Given the description of an element on the screen output the (x, y) to click on. 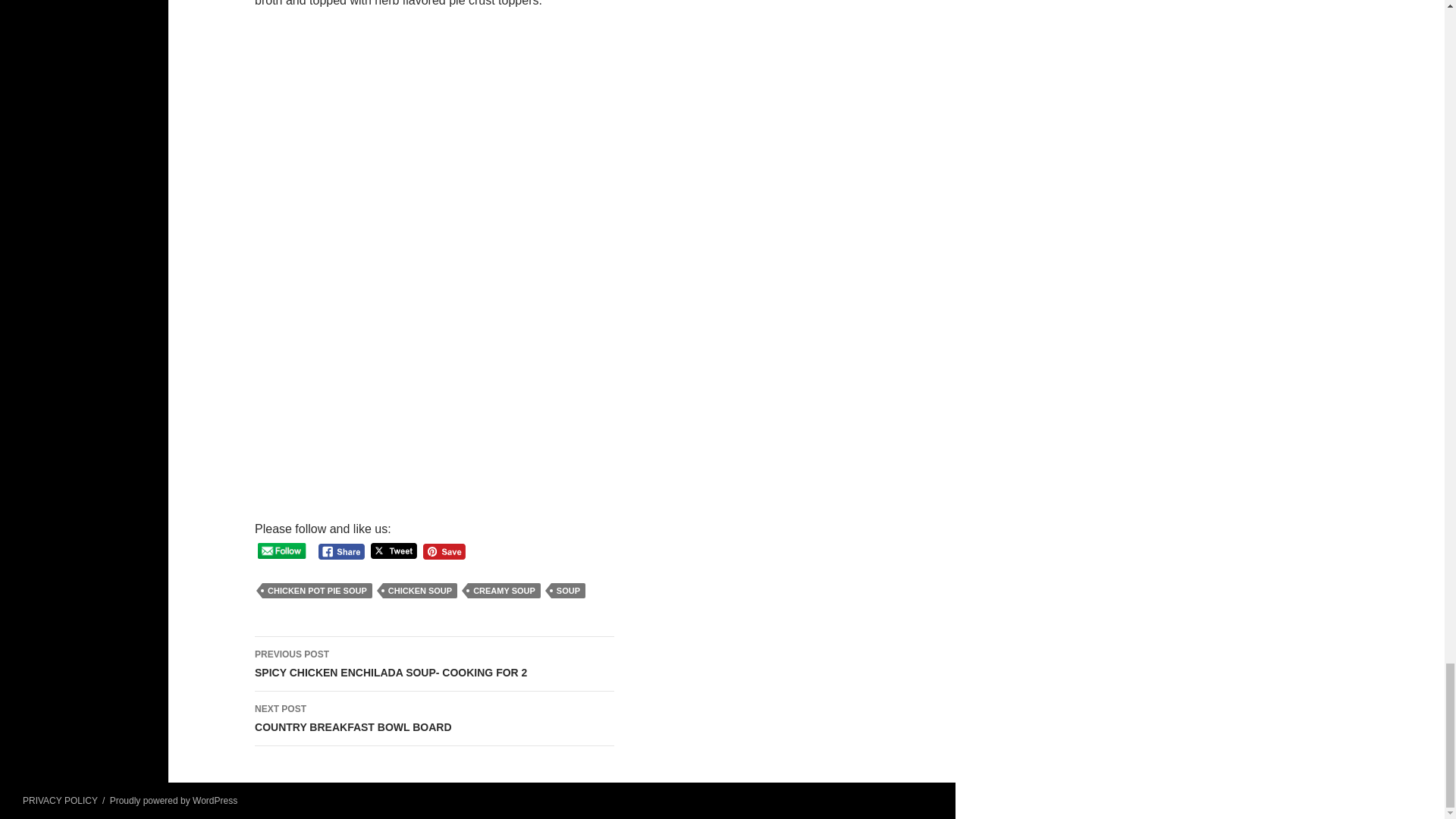
Pin Share (443, 551)
CREAMY SOUP (503, 590)
CHICKEN SOUP (419, 590)
SOUP (568, 590)
Facebook Share (341, 551)
CHICKEN POT PIE SOUP (434, 664)
Tweet (317, 590)
